Given the description of an element on the screen output the (x, y) to click on. 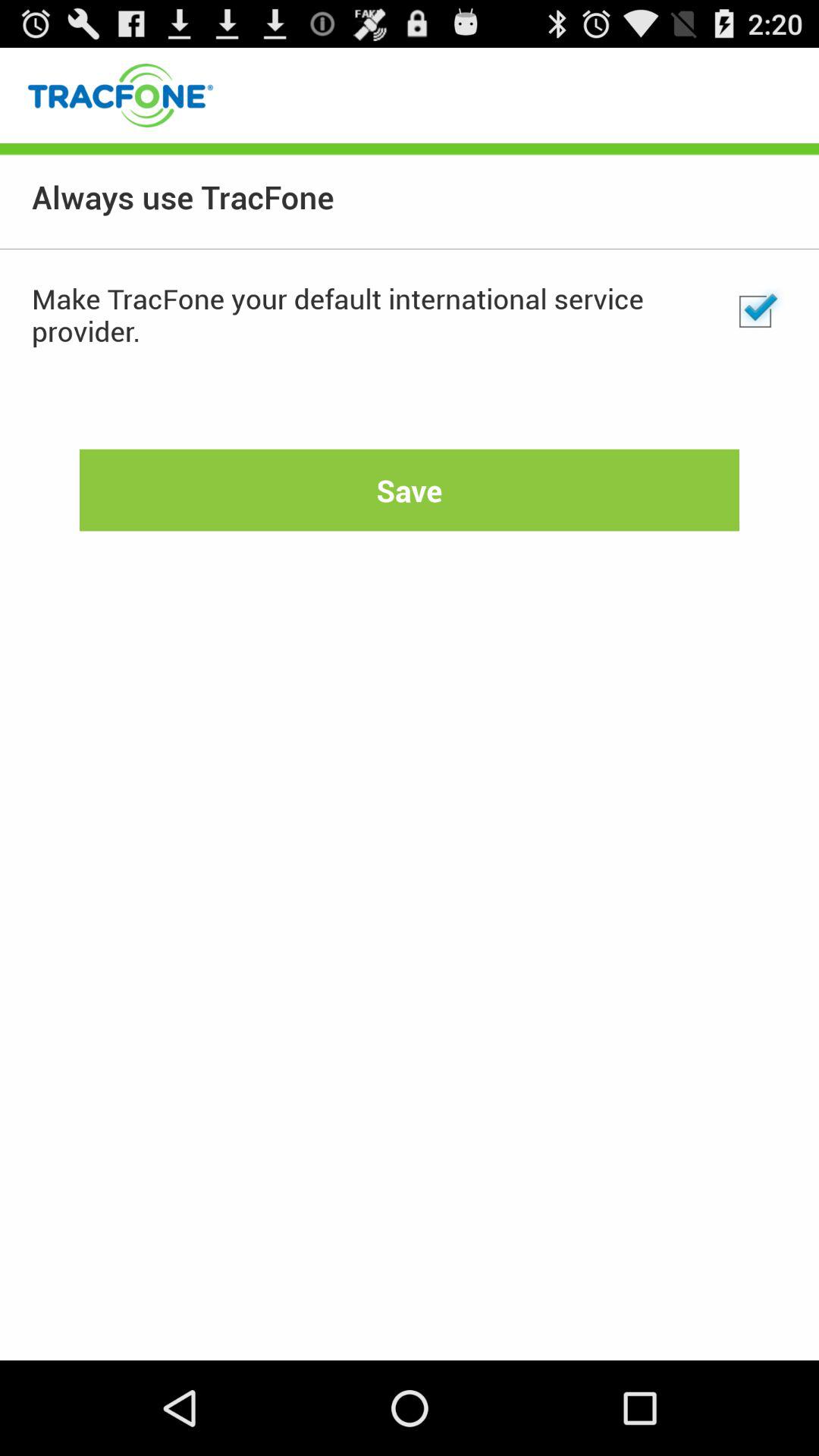
choose item above save item (755, 311)
